Given the description of an element on the screen output the (x, y) to click on. 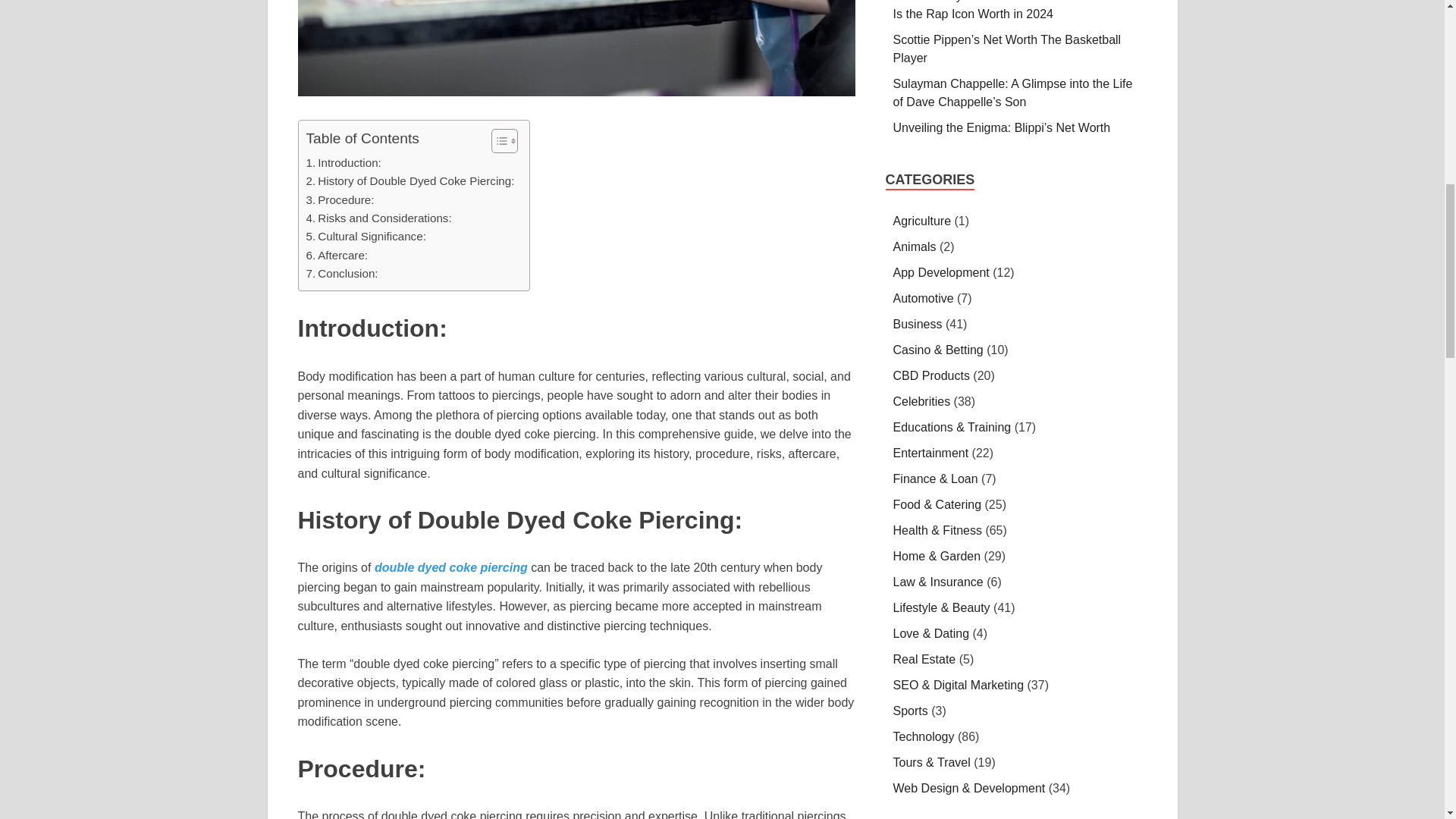
Cultural Significance: (365, 236)
Aftercare: (336, 255)
Conclusion: (341, 273)
Introduction: (343, 162)
Introduction: (343, 162)
Procedure: (339, 199)
Risks and Considerations: (378, 218)
Aftercare: (336, 255)
Risks and Considerations: (378, 218)
Cultural Significance: (365, 236)
History of Double Dyed Coke Piercing: (410, 180)
History of Double Dyed Coke Piercing: (410, 180)
Procedure: (339, 199)
